Given the description of an element on the screen output the (x, y) to click on. 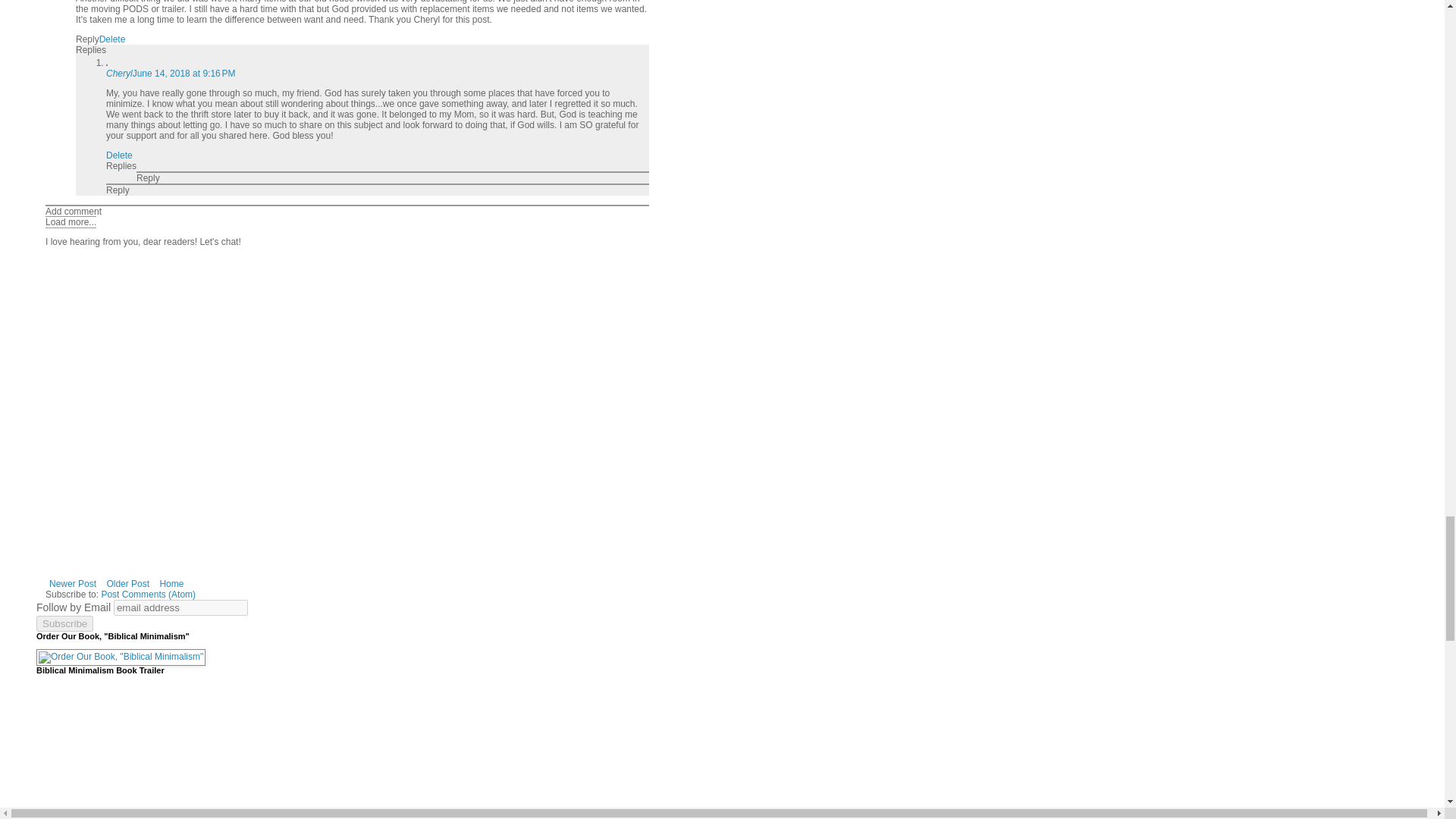
Subscribe (64, 623)
Newer Post (72, 583)
Older Post (126, 583)
